Given the description of an element on the screen output the (x, y) to click on. 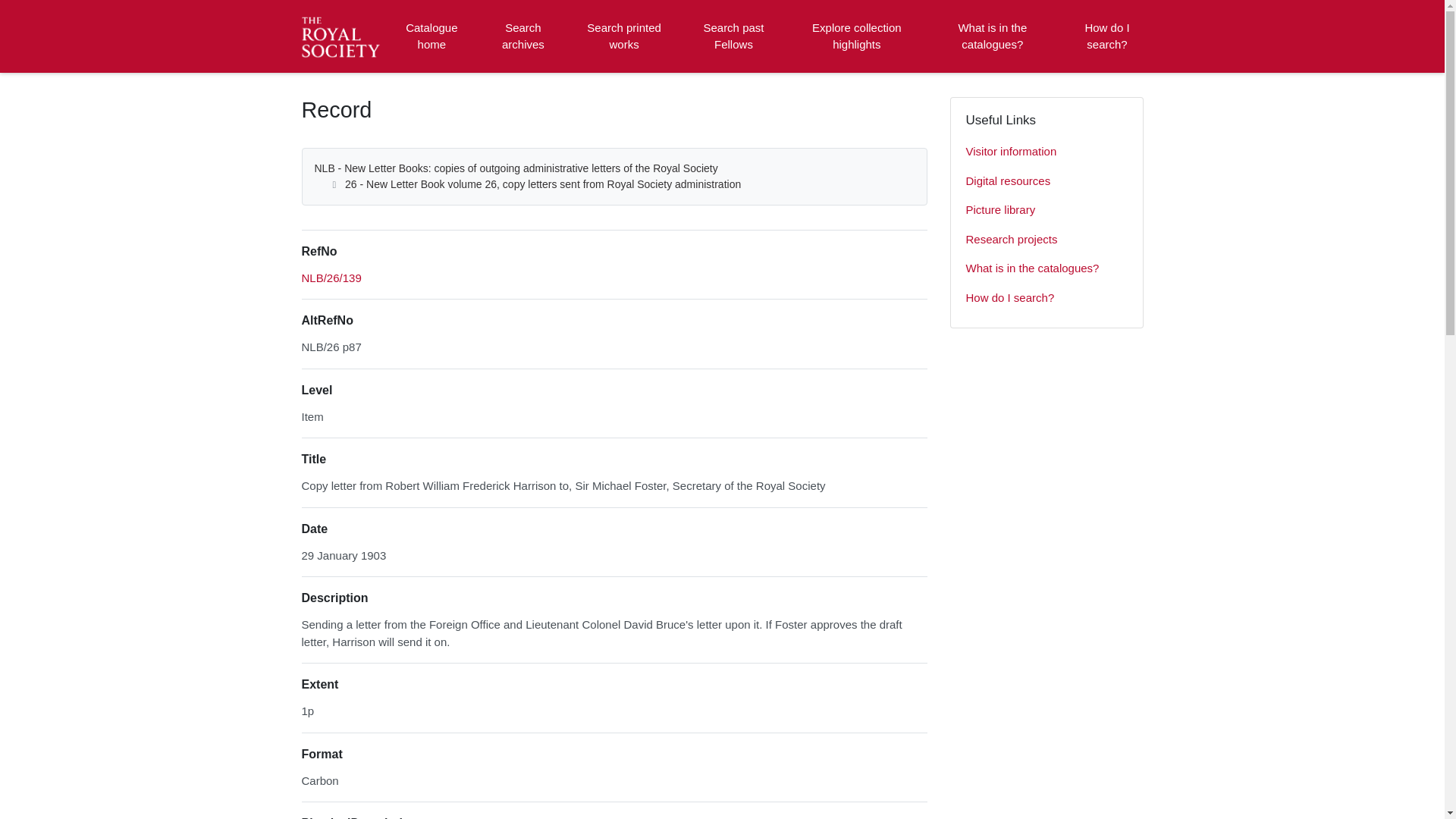
Explore collection highlights (856, 36)
Catalogue home (431, 36)
What is in the catalogues? (1046, 268)
Search archives (522, 36)
How do I search? (1106, 36)
Picture library (1046, 210)
Search printed works (624, 36)
Browse record in hierarchy. (331, 277)
Digital resources (1046, 181)
Search past Fellows (732, 36)
Research projects (1046, 239)
Homepage (343, 36)
What is in the catalogues? (991, 36)
